Given the description of an element on the screen output the (x, y) to click on. 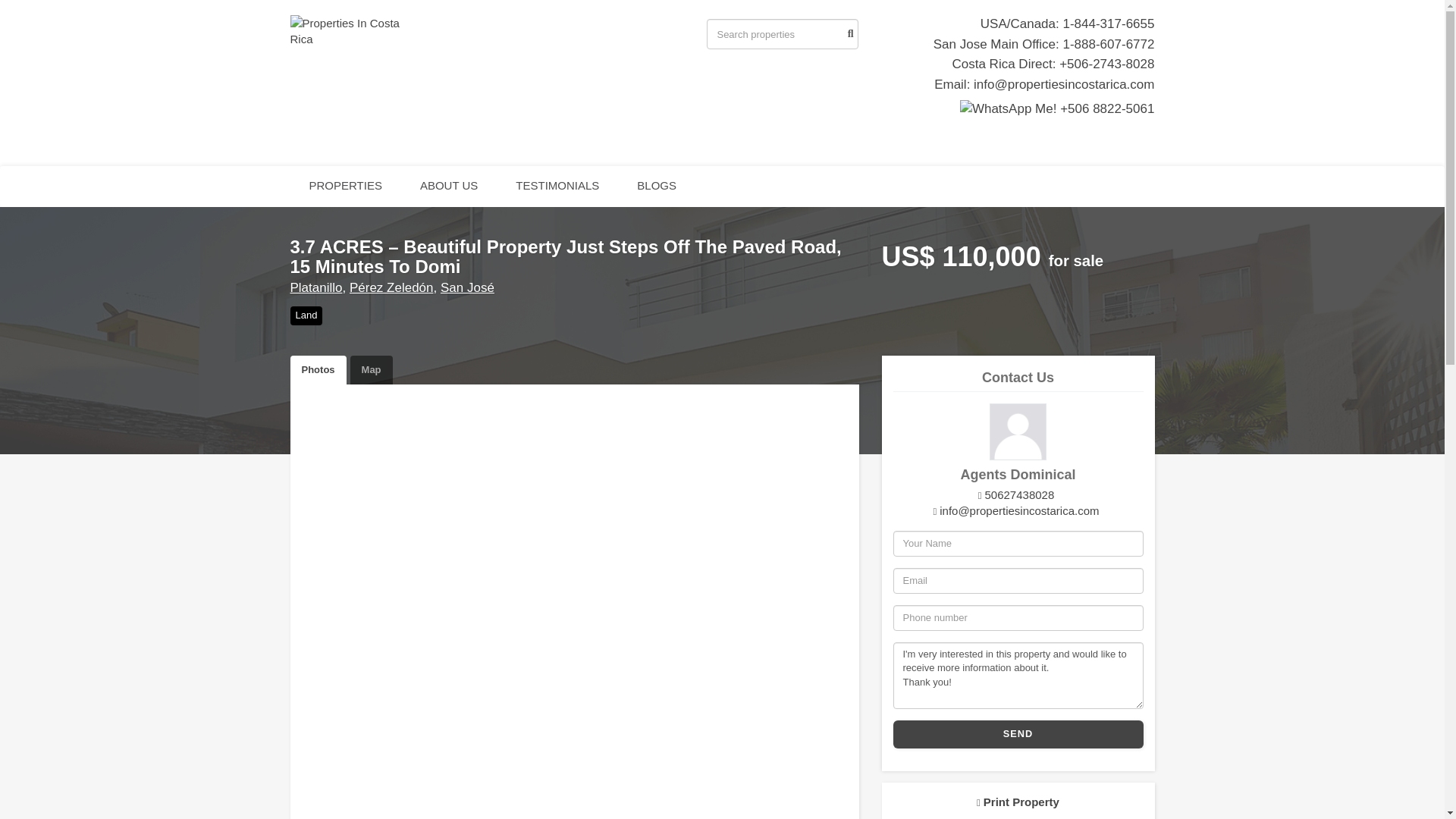
1-844-317-6655 (1108, 23)
Go (847, 33)
Home (354, 29)
PROPERTIES (344, 187)
1-888-607-6772 (1108, 43)
Send (1017, 734)
Platanillo (315, 287)
Go (847, 33)
Map (371, 369)
50627438028 (1016, 494)
BLOGS (656, 187)
Agents Dominical (1018, 431)
Send (1017, 734)
ABOUT US (448, 187)
TESTIMONIALS (556, 187)
